Given the description of an element on the screen output the (x, y) to click on. 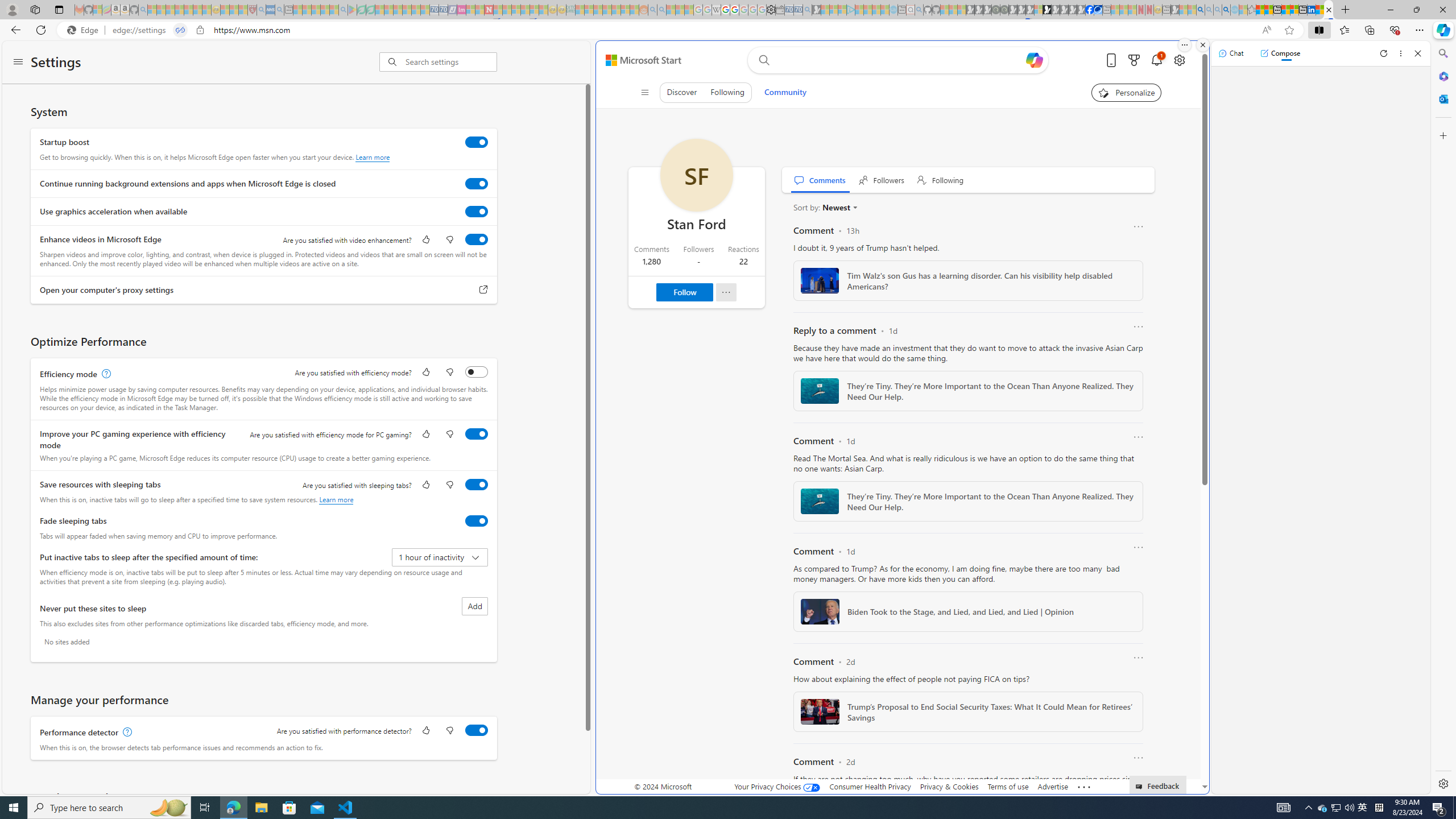
Personalize your feed" (1126, 92)
